Given the description of an element on the screen output the (x, y) to click on. 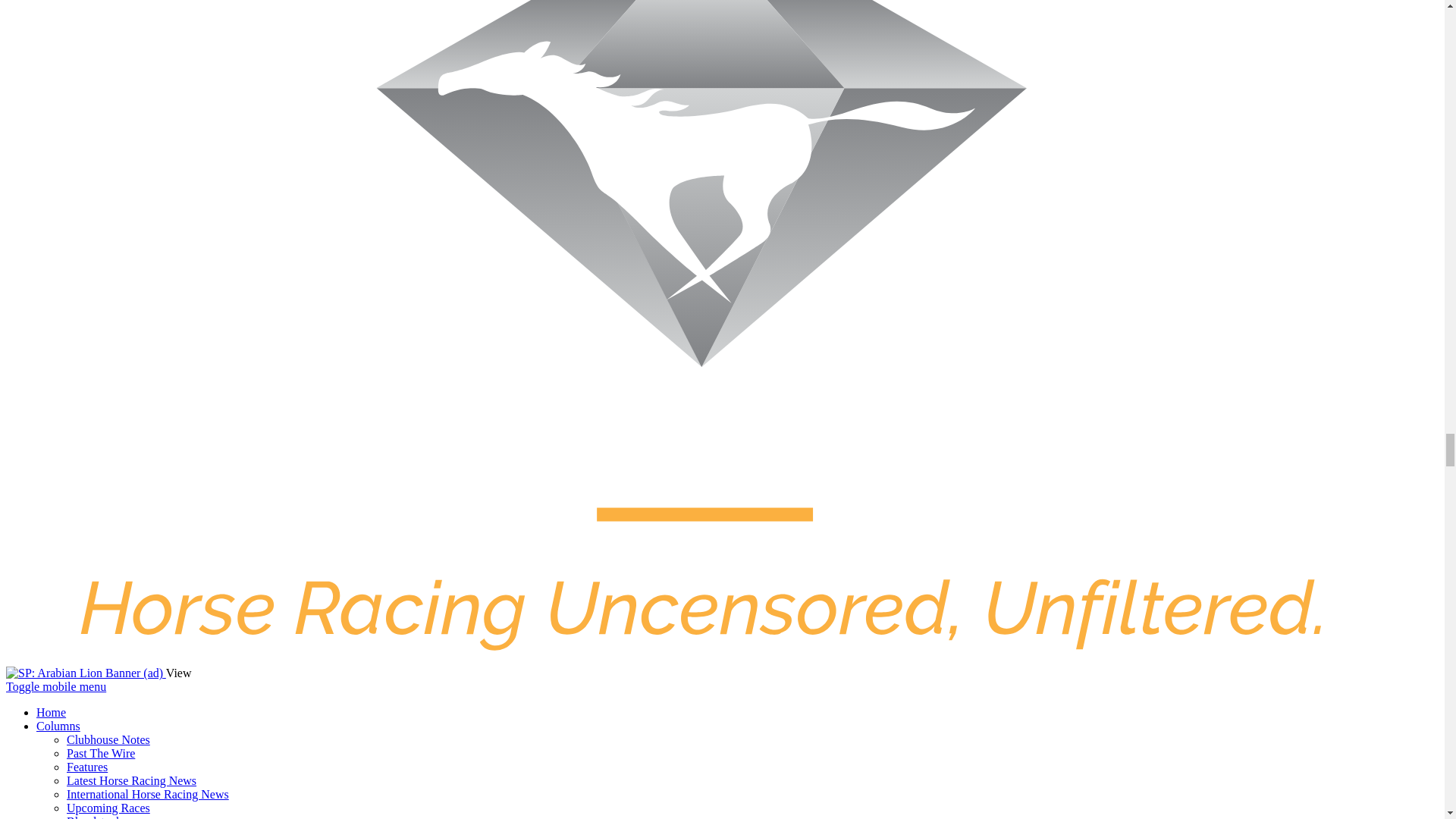
Home (50, 712)
